Given the description of an element on the screen output the (x, y) to click on. 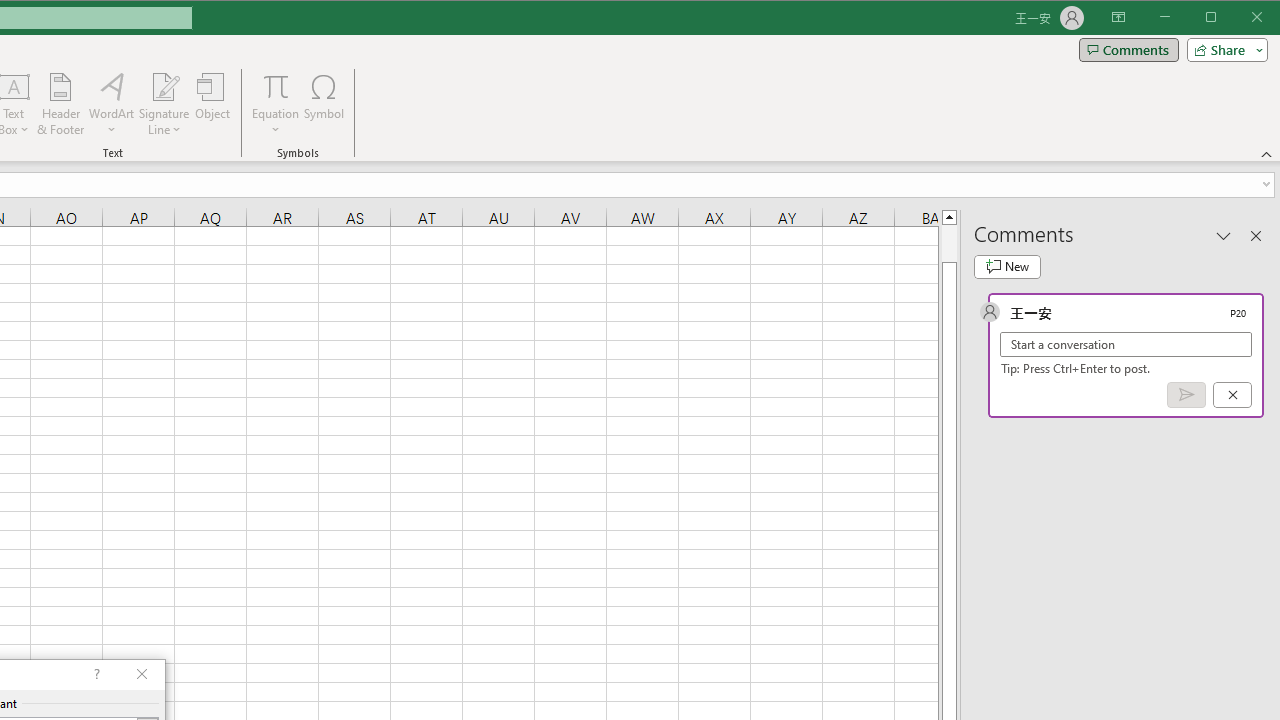
Equation (275, 86)
Equation (275, 104)
Page up (948, 243)
Signature Line (164, 86)
Cancel (1232, 395)
Header & Footer... (60, 104)
Signature Line (164, 104)
